Given the description of an element on the screen output the (x, y) to click on. 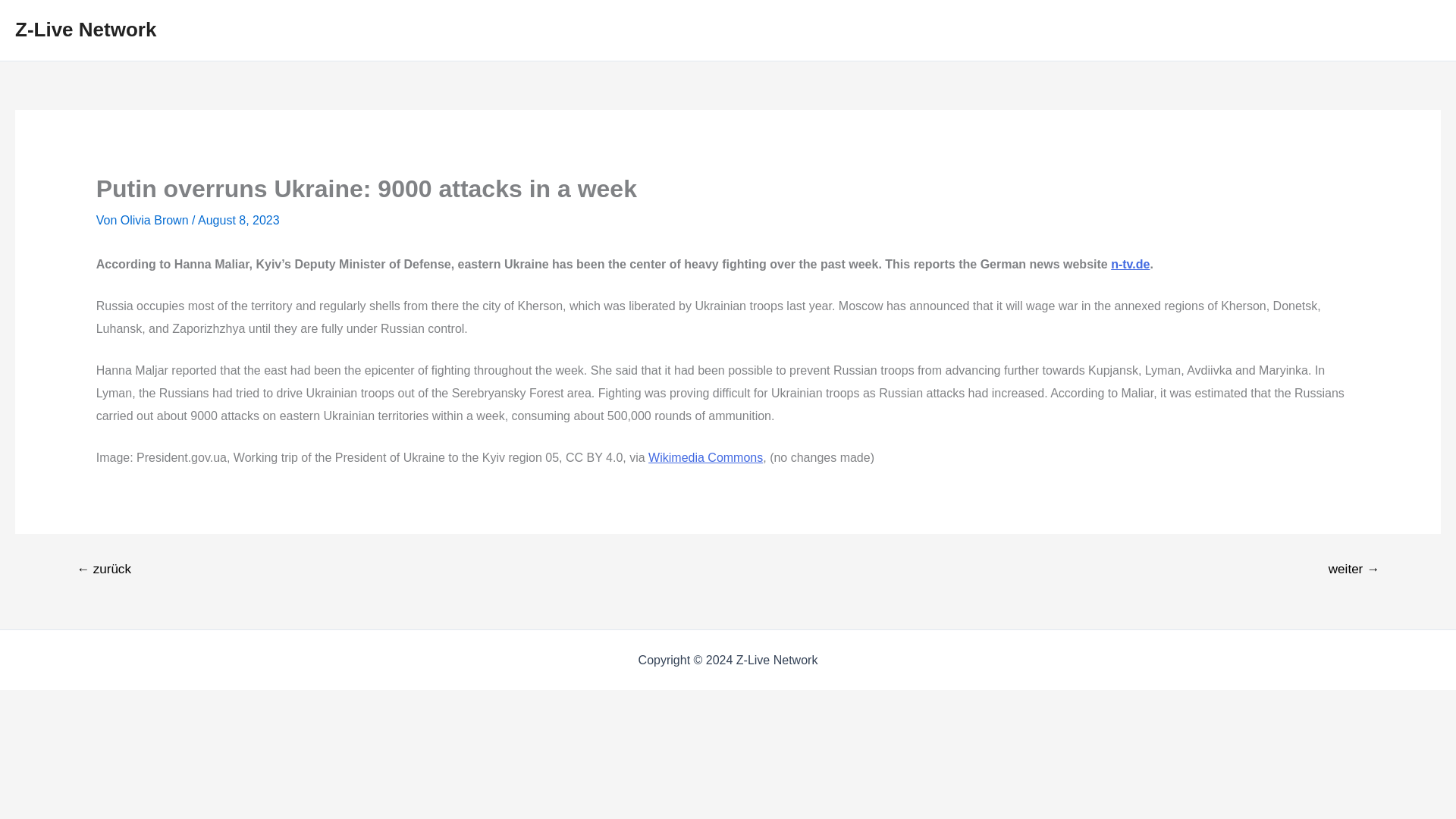
Wikimedia Commons (704, 457)
Z-Live Network (84, 29)
Olivia Brown (156, 219)
n-tv.de (1130, 264)
